Given the description of an element on the screen output the (x, y) to click on. 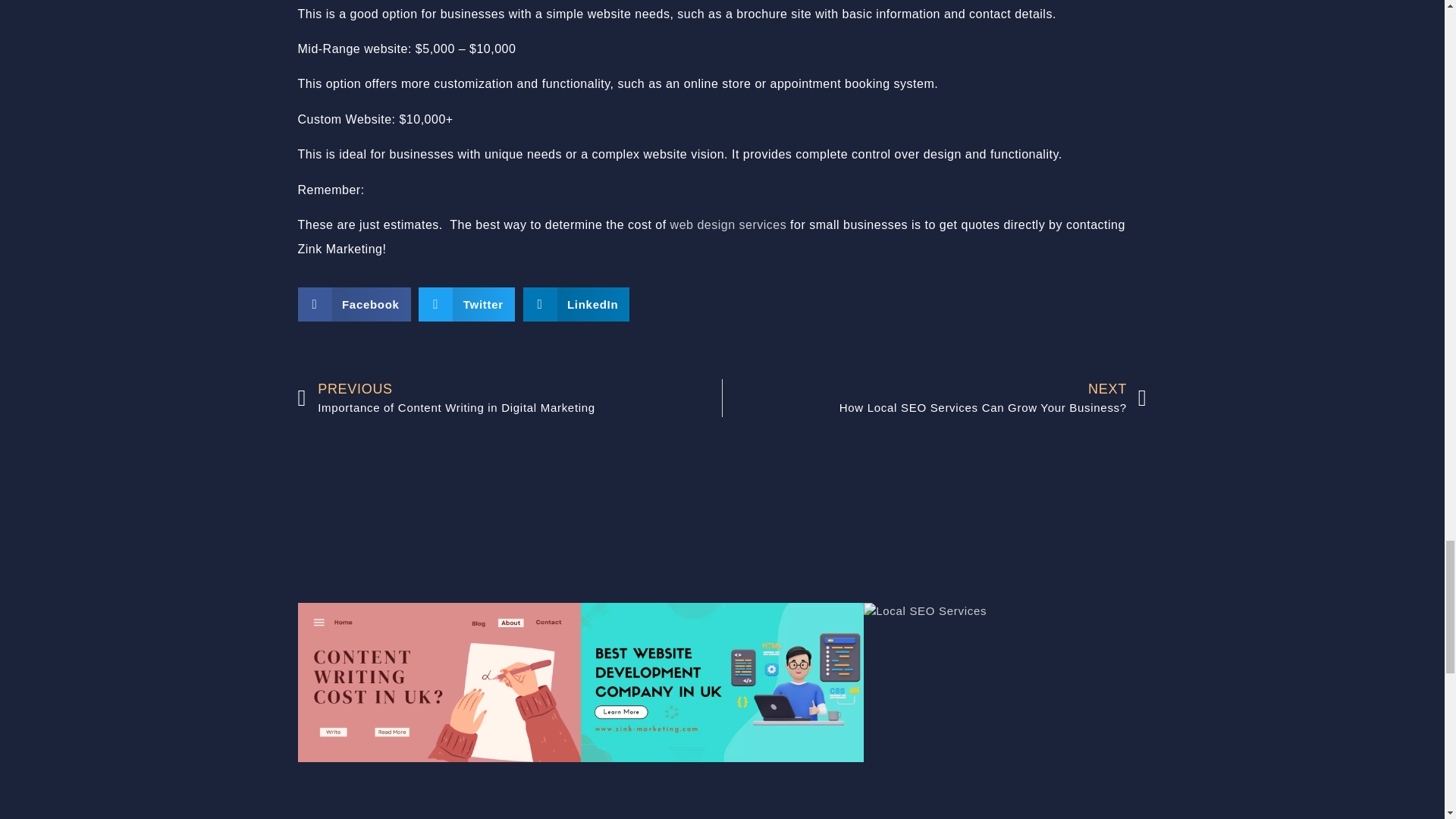
web design services (934, 397)
